Given the description of an element on the screen output the (x, y) to click on. 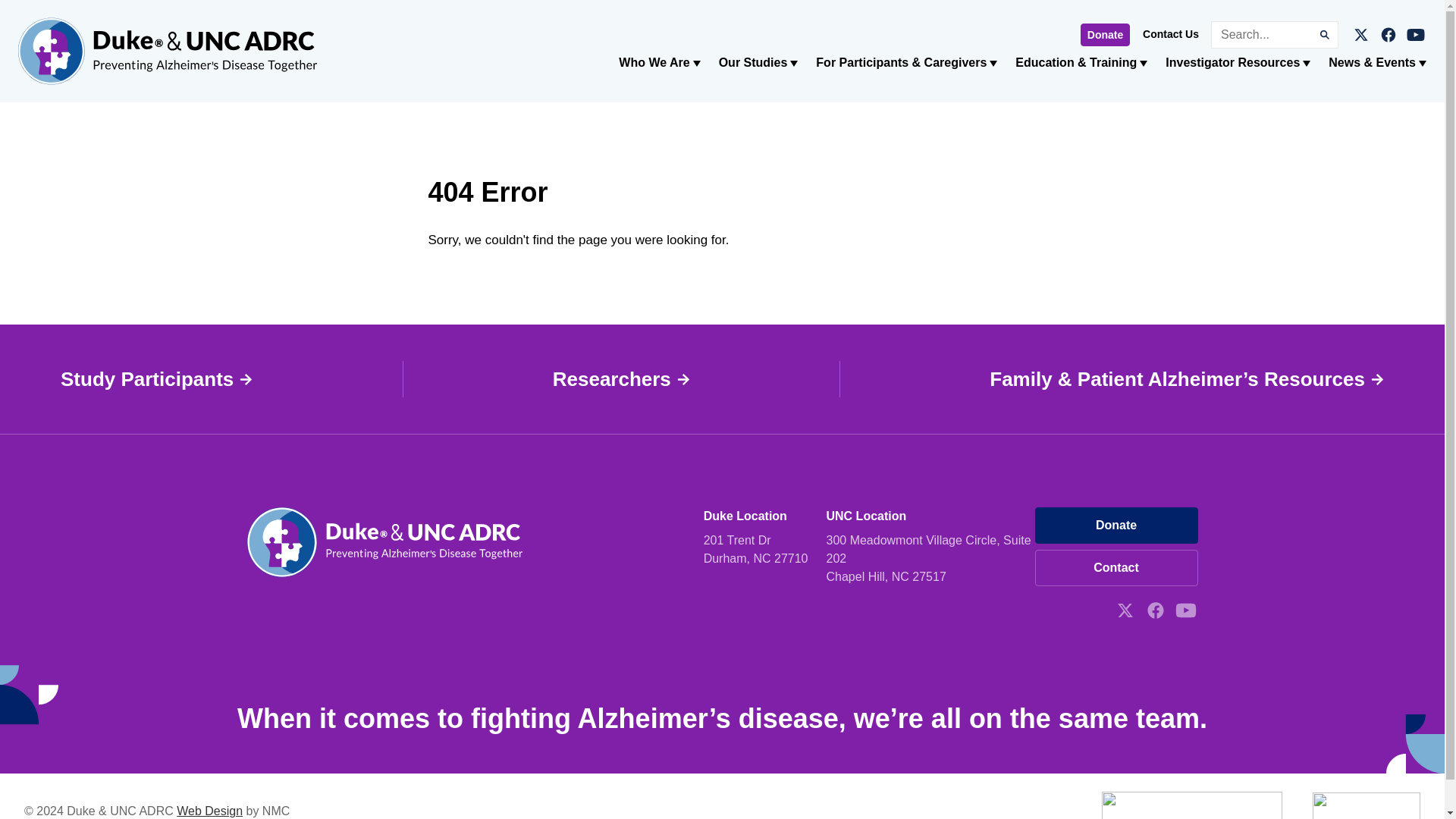
Donate (1104, 33)
Our Studies (758, 61)
Investigator Resources (1238, 61)
homepage (384, 573)
homepage (167, 51)
Contact Us (1170, 33)
Who We Are (659, 61)
Study Participants (156, 379)
